Given the description of an element on the screen output the (x, y) to click on. 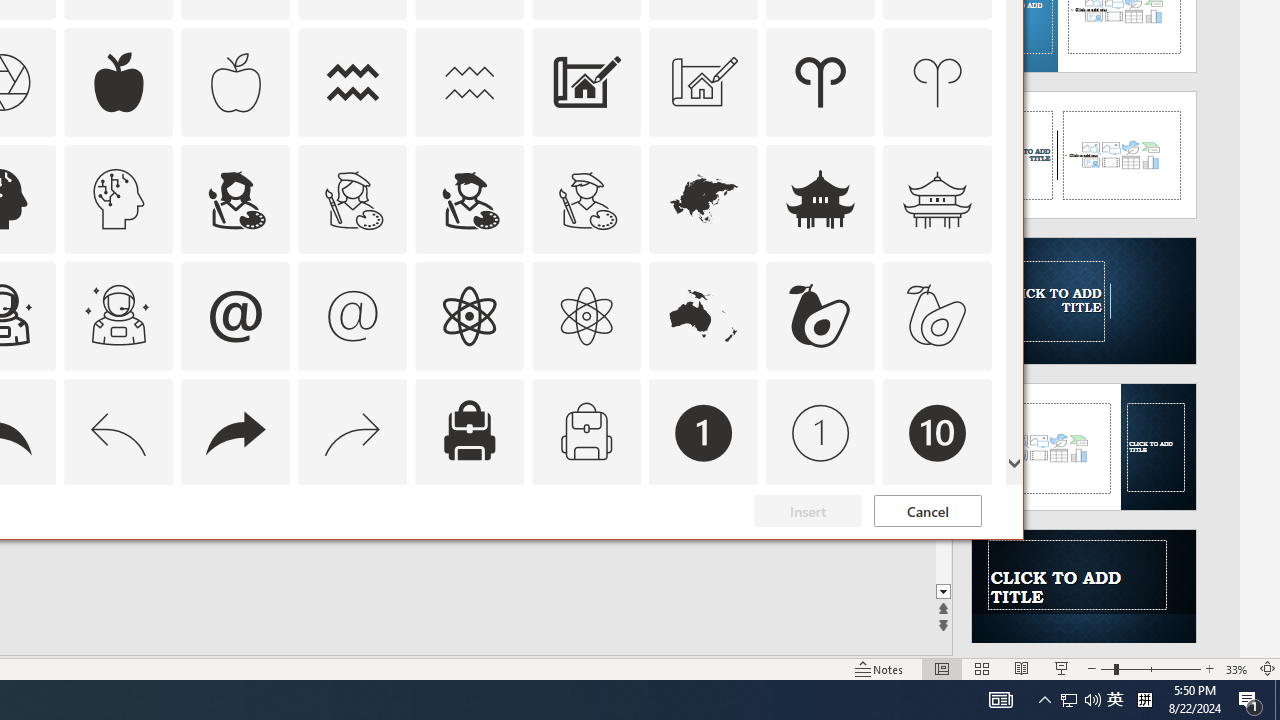
AutomationID: Icons_Atom_M (586, 316)
AutomationID: Icons_Badge7 (353, 550)
AutomationID: Icons_Backpack_M (586, 432)
AutomationID: Icons_Architecture_M (703, 82)
Cancel (927, 511)
AutomationID: Icons_AsianTemple_M (938, 198)
AutomationID: Icons_At_M (353, 316)
AutomationID: Icons_Badge7_M (469, 550)
AutomationID: Icons_ArtificialIntelligence_M (118, 198)
